Given the description of an element on the screen output the (x, y) to click on. 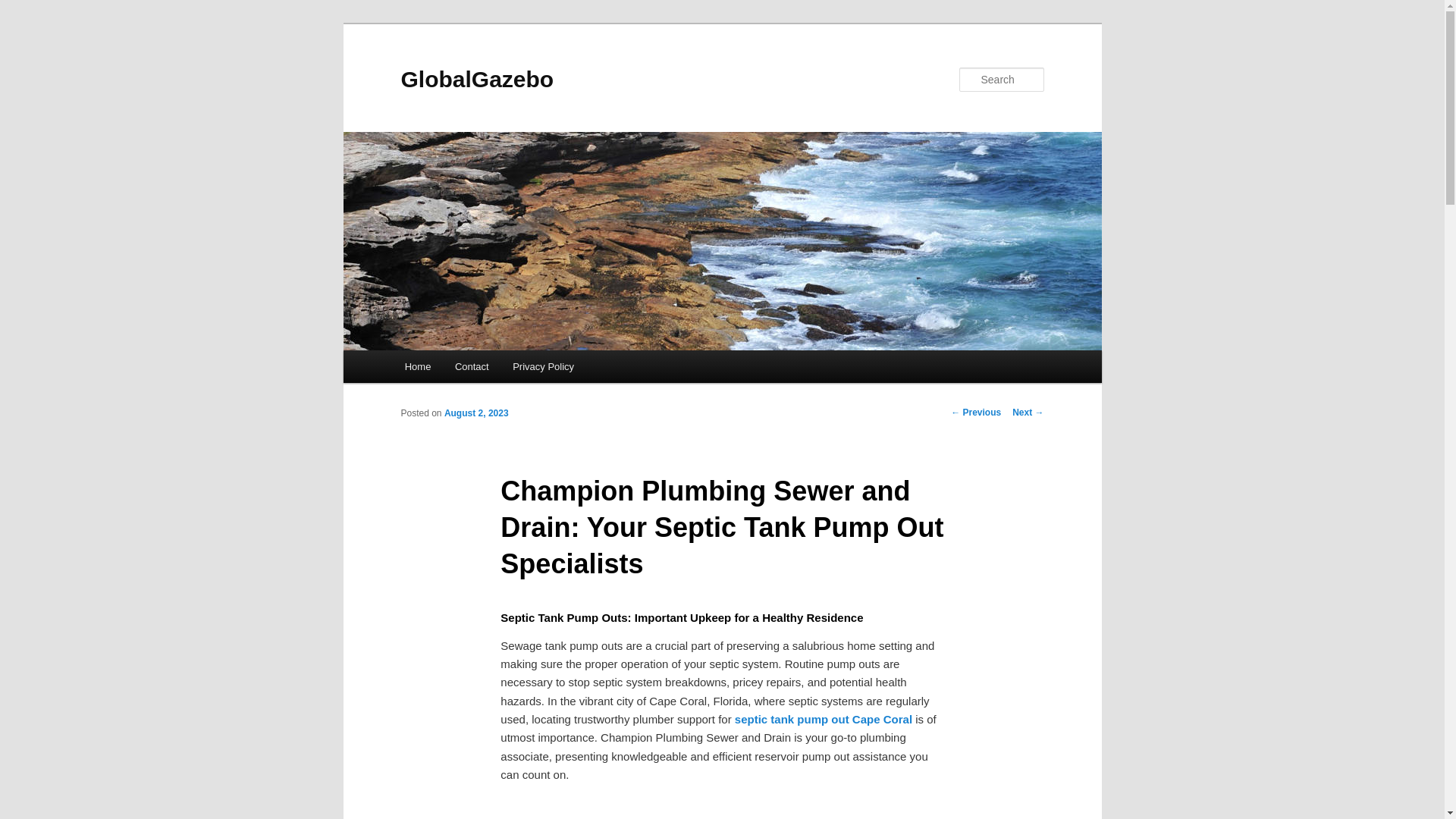
GlobalGazebo (476, 78)
August 2, 2023 (476, 412)
2:12 pm (476, 412)
Search (24, 8)
Home (417, 366)
Privacy Policy (542, 366)
septic tank pump out Cape Coral (823, 718)
Contact (471, 366)
